Given the description of an element on the screen output the (x, y) to click on. 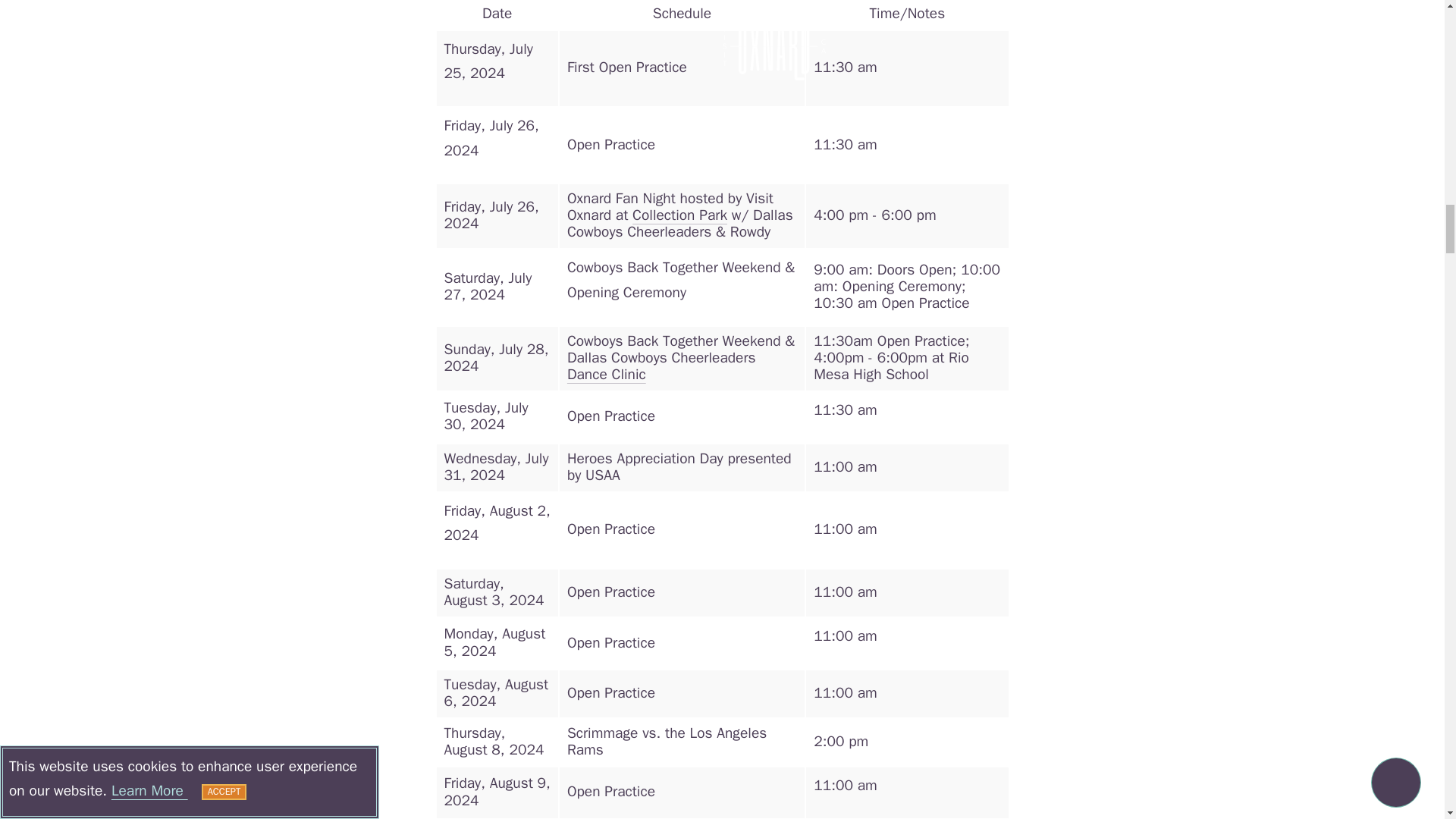
Collection Park (678, 215)
Dance Clinic (606, 374)
